Given the description of an element on the screen output the (x, y) to click on. 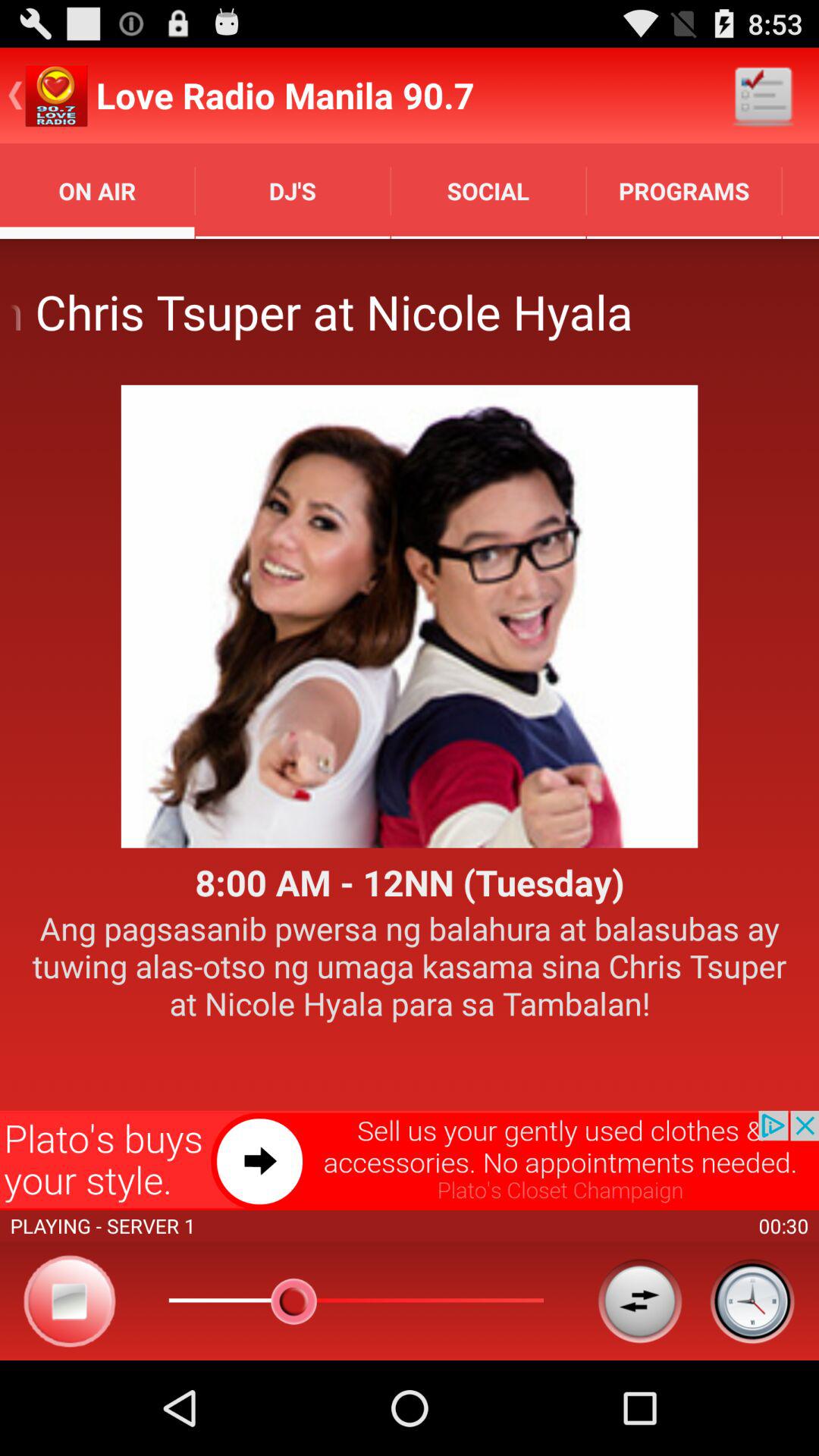
advertisement option (409, 1160)
